Given the description of an element on the screen output the (x, y) to click on. 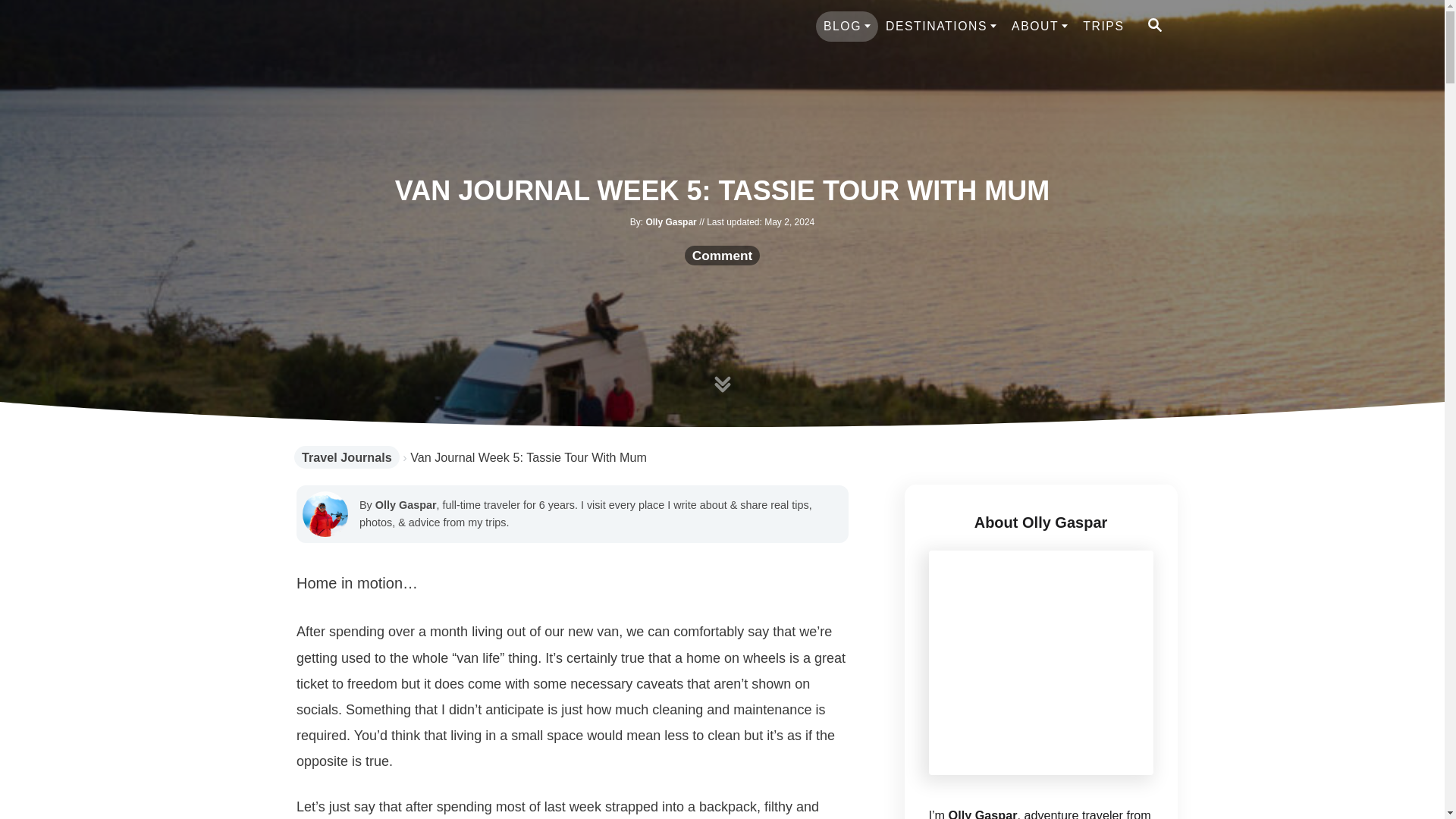
SEARCH (1153, 26)
BLOG (846, 26)
We Seek Travel (403, 26)
DESTINATIONS (940, 26)
